Given the description of an element on the screen output the (x, y) to click on. 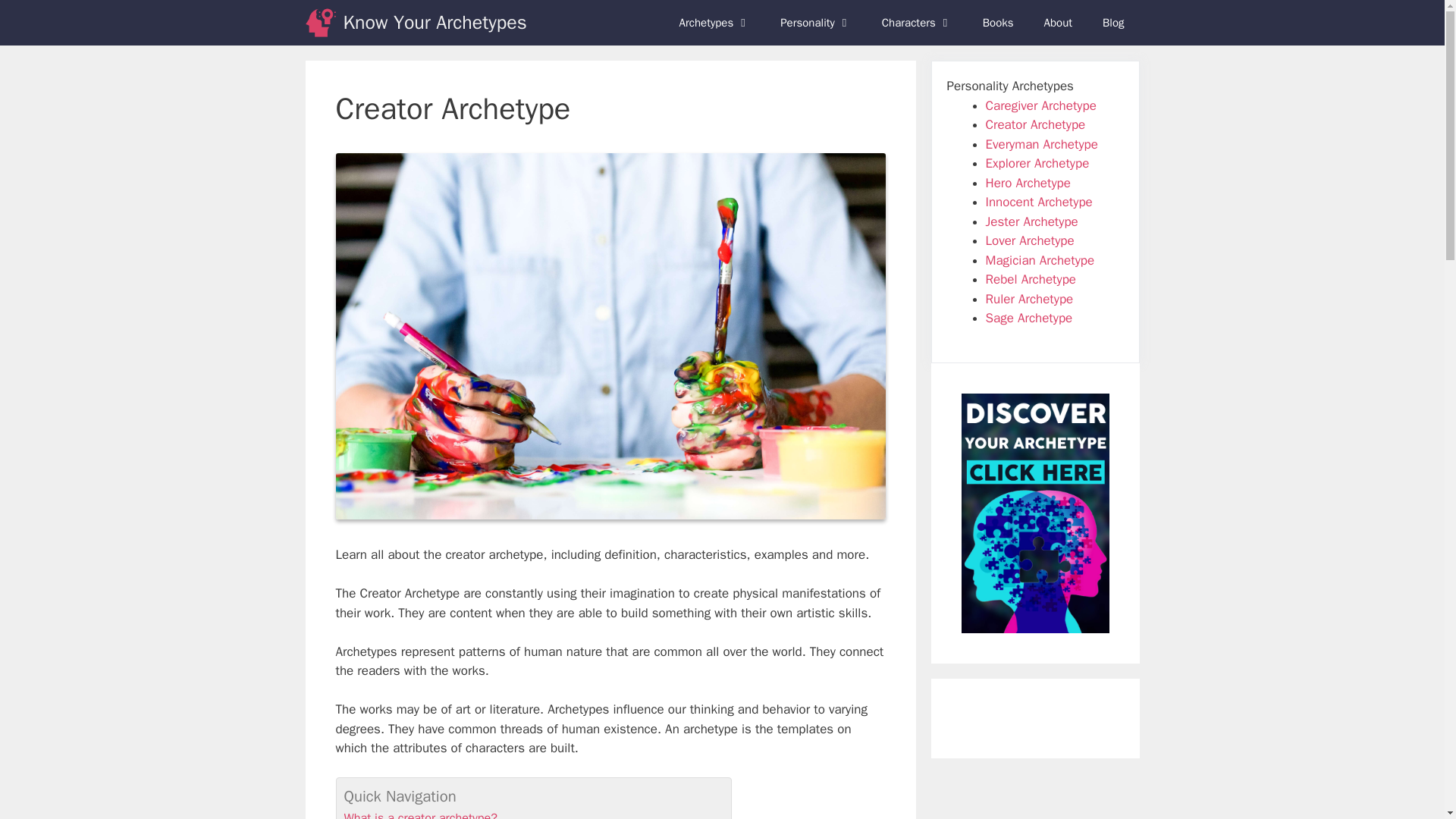
Creator Archetype (1035, 124)
Explorer Archetype (1037, 163)
Blog (1112, 22)
What is a creator archetype? (420, 814)
Personality (815, 22)
About (1058, 22)
Archetypes (714, 22)
Know Your Archetypes (433, 22)
Characters (917, 22)
Books (998, 22)
